Given the description of an element on the screen output the (x, y) to click on. 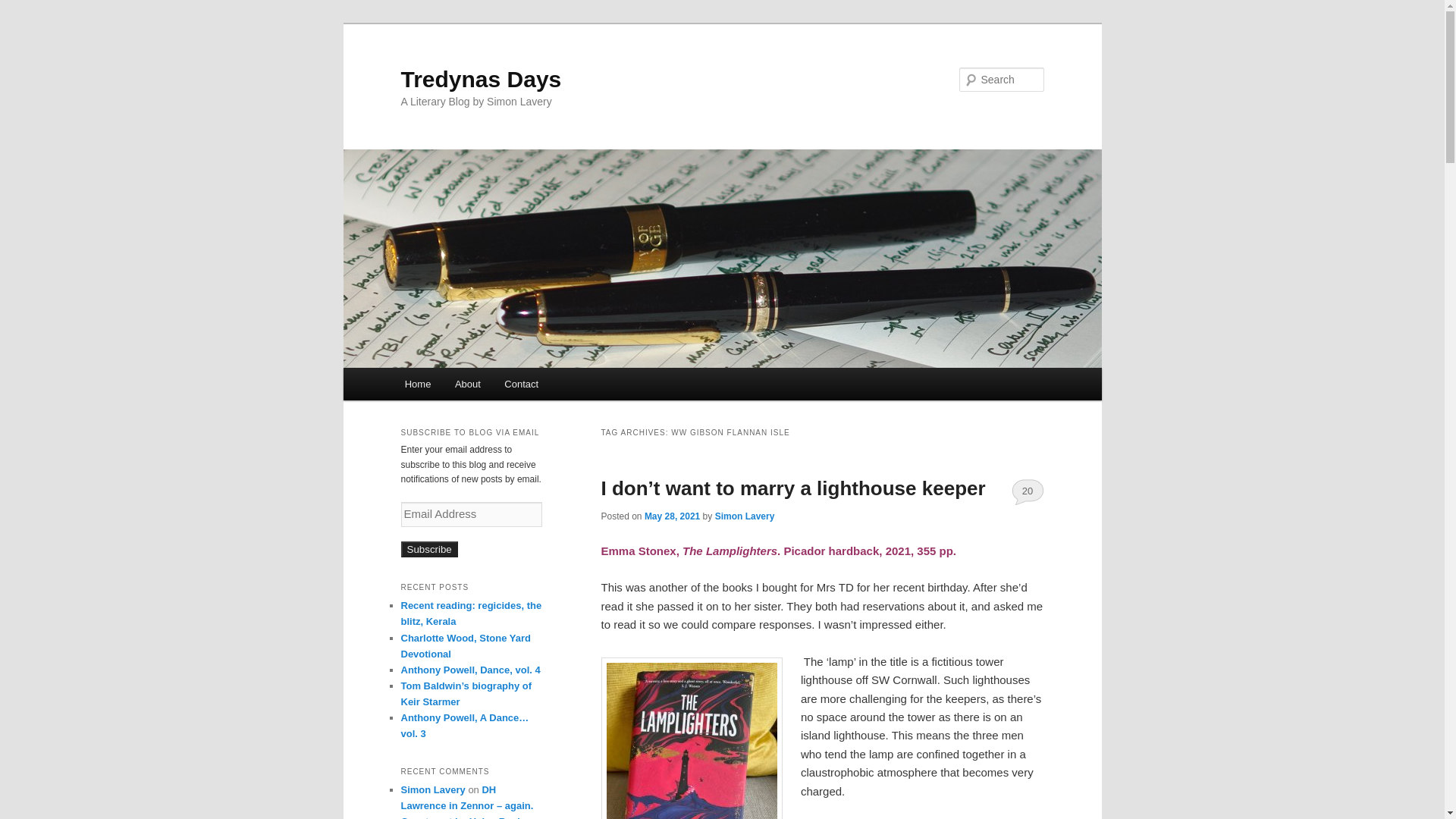
Anthony Powell, Dance, vol. 4 (470, 669)
10:20 am (672, 516)
Tredynas Days (480, 78)
View all posts by Simon Lavery (744, 516)
Simon Lavery (432, 789)
May 28, 2021 (672, 516)
About (467, 383)
Simon Lavery (744, 516)
Search (24, 8)
Subscribe (428, 549)
Home (417, 383)
20 (1027, 491)
Recent reading: regicides, the blitz, Kerala (470, 613)
Contact (521, 383)
